Given the description of an element on the screen output the (x, y) to click on. 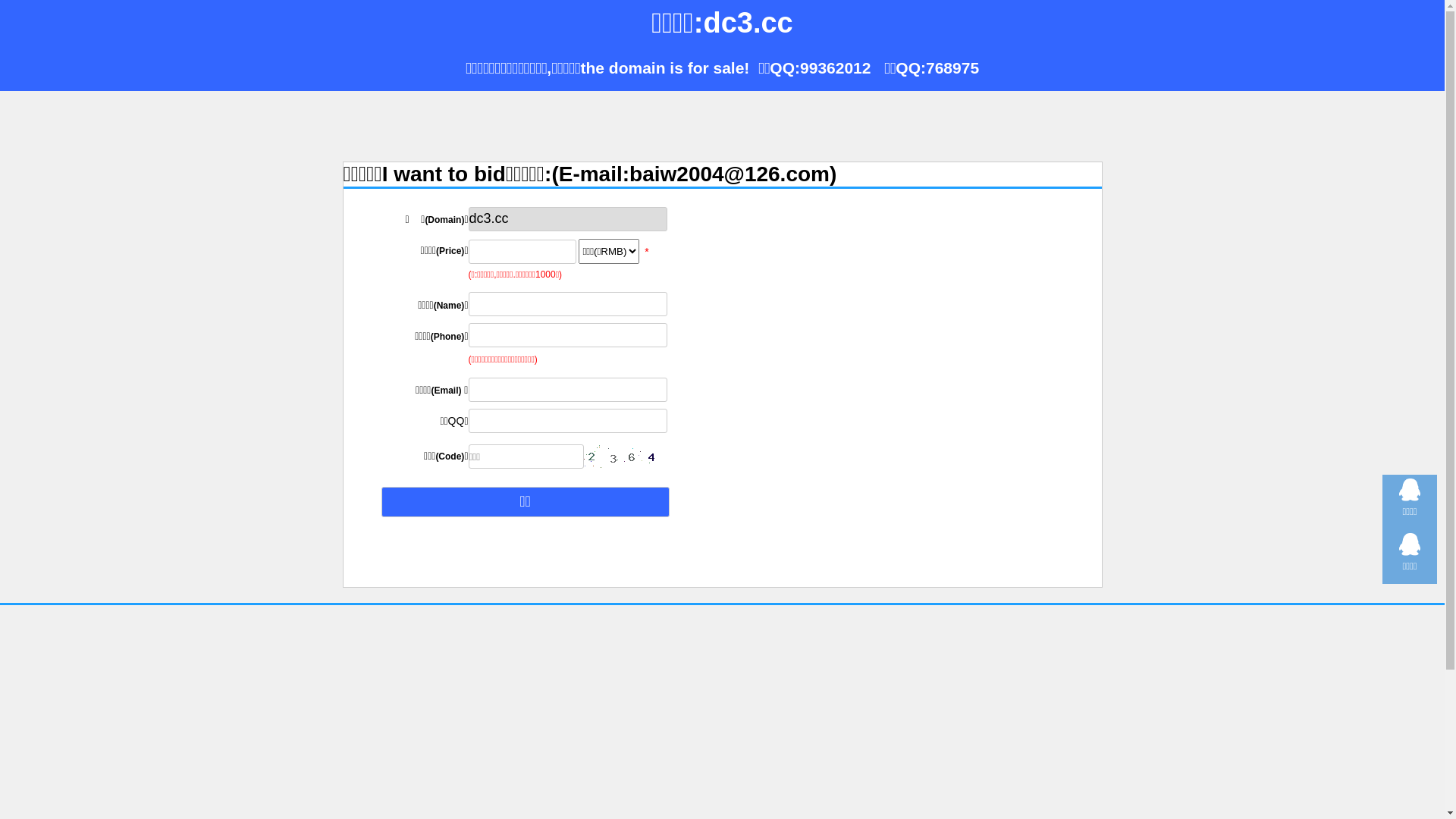
Advertisement Element type: hover (721, 125)
Advertisement Element type: hover (941, 377)
768975 Element type: text (952, 67)
99362012 Element type: text (835, 67)
